Given the description of an element on the screen output the (x, y) to click on. 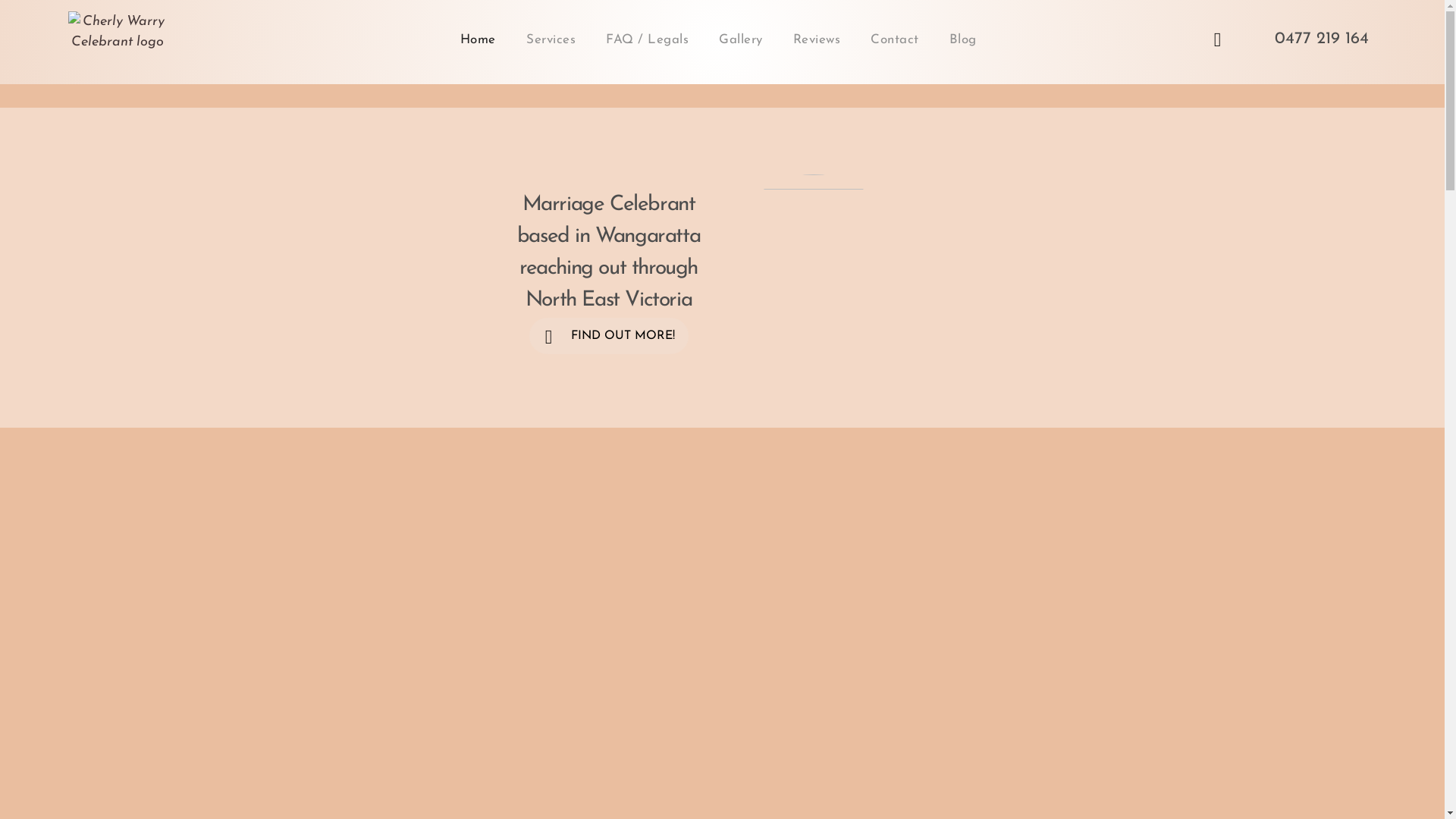
0477 219 164 Element type: text (1317, 38)
Reviews Element type: text (816, 40)
Blog Element type: text (963, 40)
Home Element type: text (477, 40)
Contact Element type: text (894, 40)
Gallery Element type: text (740, 40)
FAQ / Legals Element type: text (646, 40)
FIND OUT MORE! Element type: text (608, 335)
Services Element type: text (550, 40)
